Given the description of an element on the screen output the (x, y) to click on. 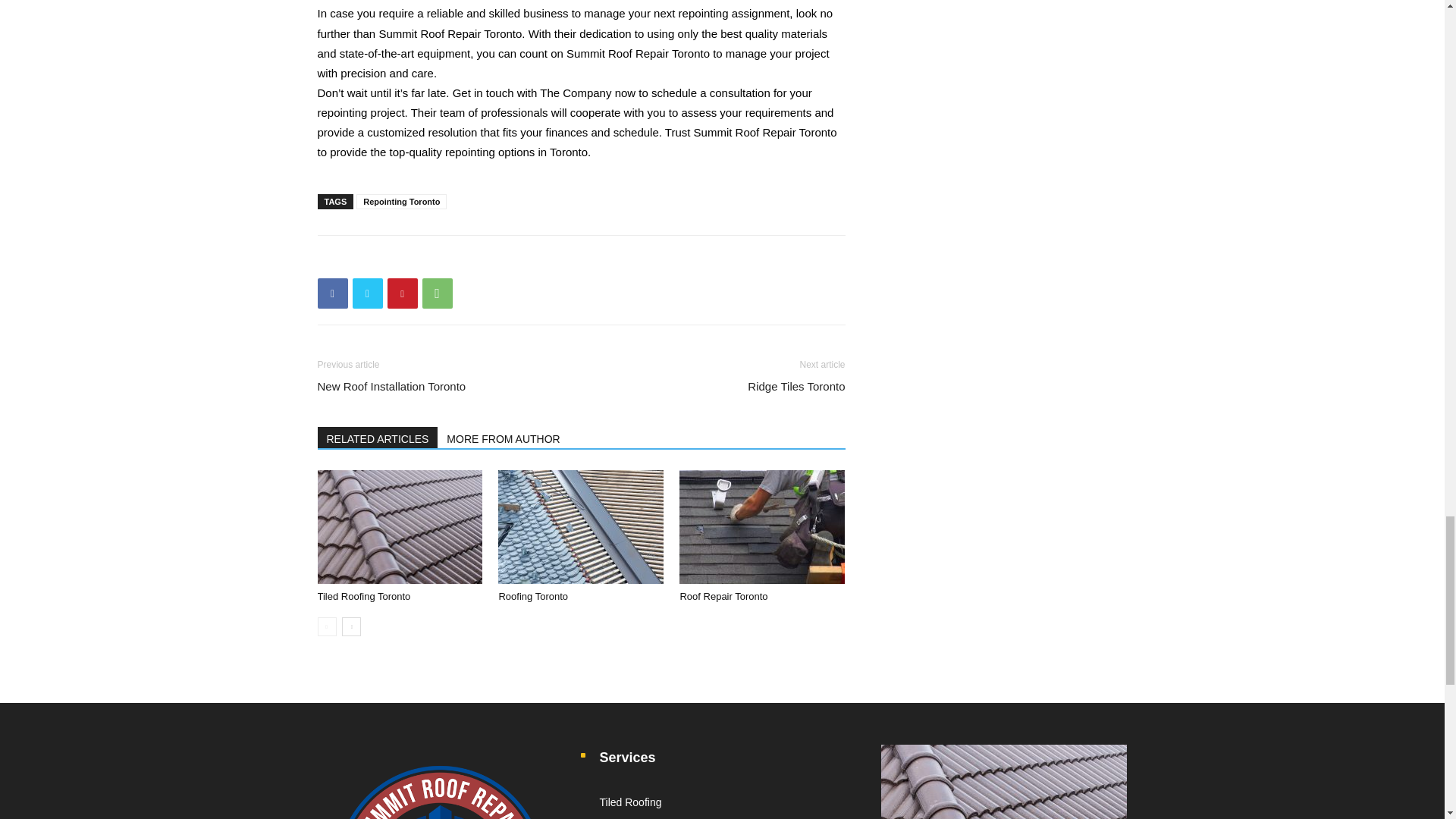
bottomFacebookLike (430, 259)
Tiled Roofing Toronto (363, 595)
Roofing Toronto (580, 526)
Facebook (332, 293)
Twitter (366, 293)
Pinterest (401, 293)
Tiled Roofing Toronto (399, 526)
WhatsApp (436, 293)
